Given the description of an element on the screen output the (x, y) to click on. 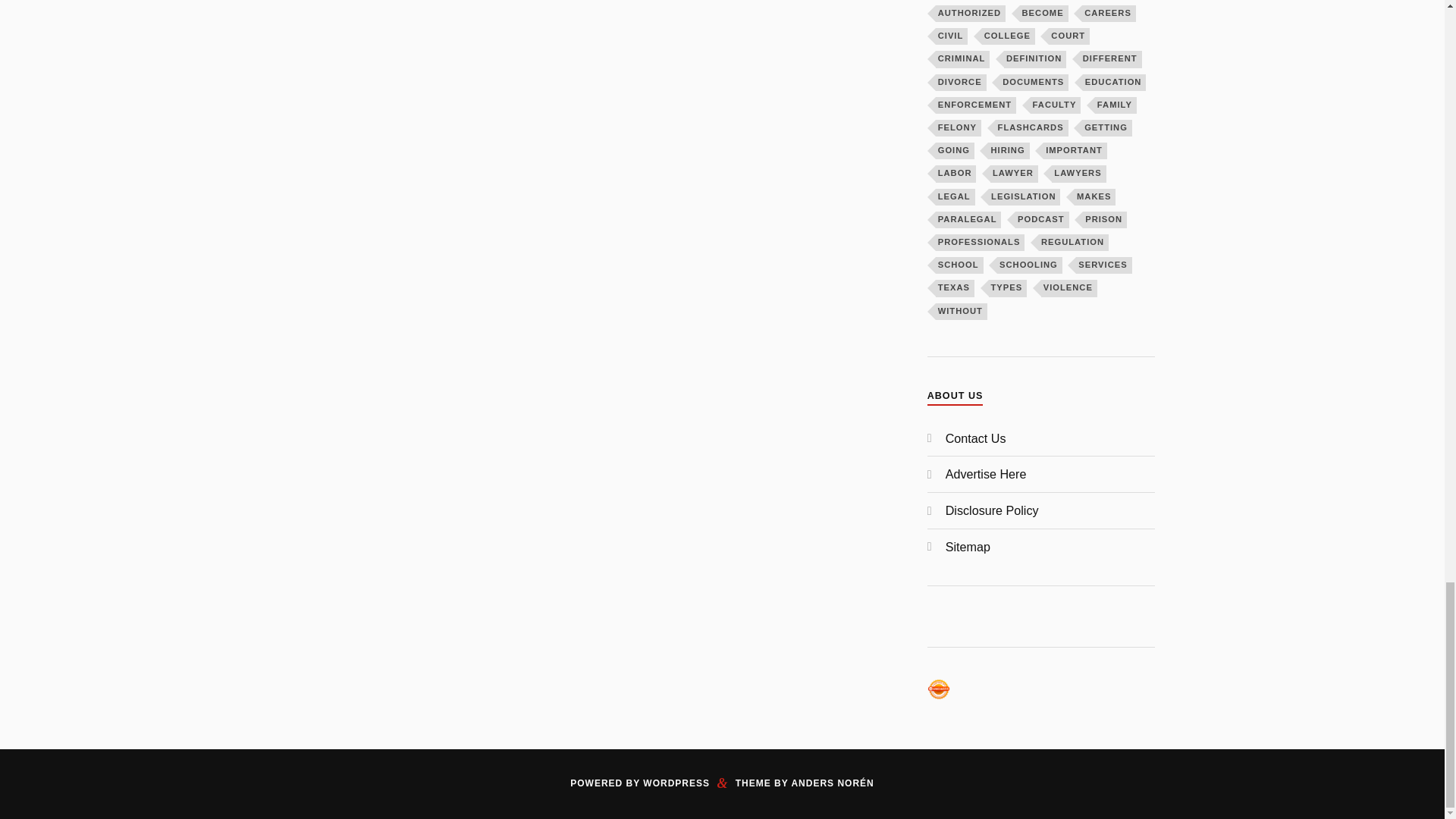
Seedbacklink (938, 689)
